Given the description of an element on the screen output the (x, y) to click on. 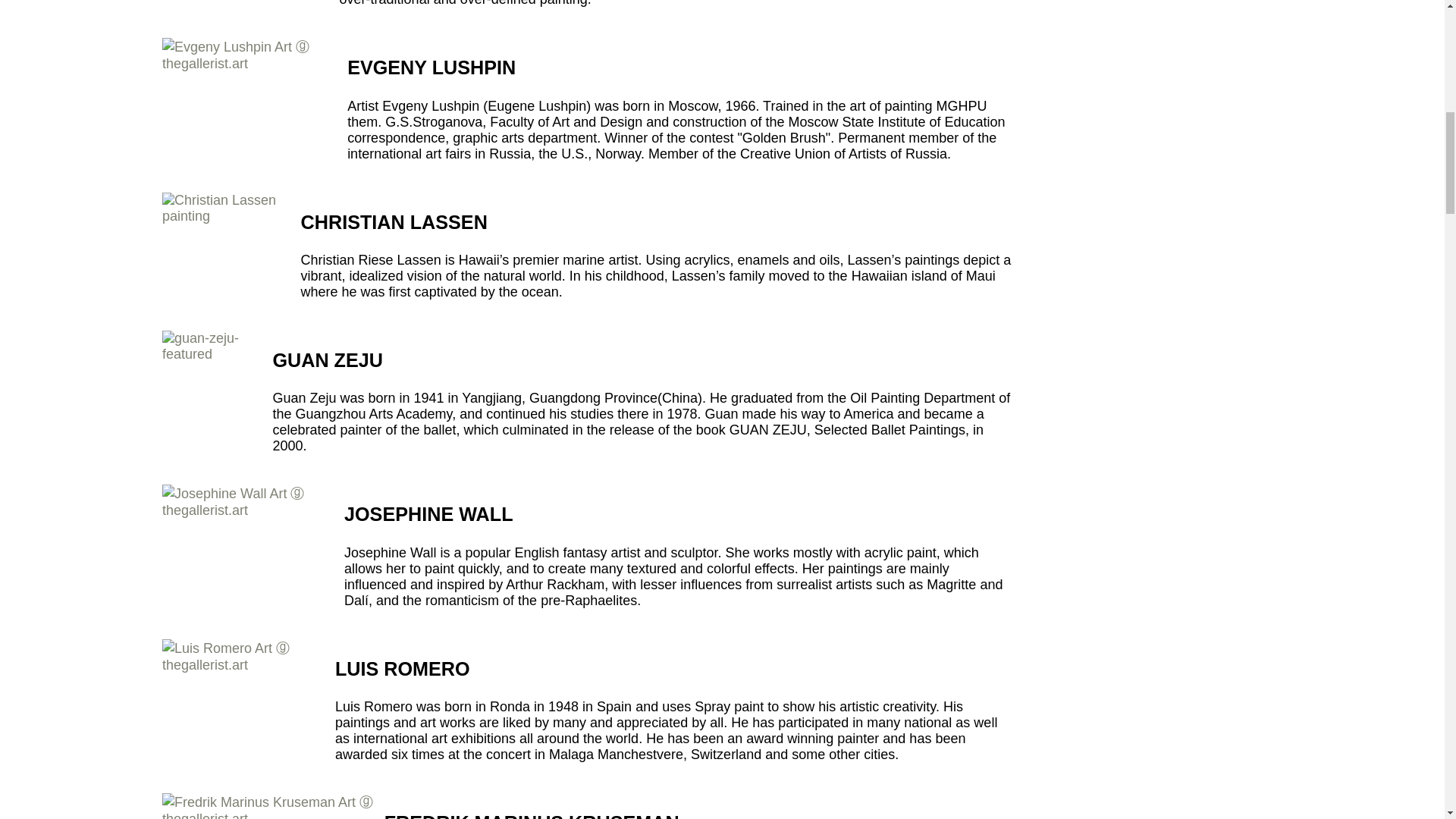
JOSEPHINE WALL (428, 513)
GUAN ZEJU (327, 360)
EVGENY LUSHPIN (431, 66)
LUIS ROMERO (402, 668)
FREDRIK MARINUS KRUSEMAN (531, 815)
CHRISTIAN LASSEN (394, 221)
